Given the description of an element on the screen output the (x, y) to click on. 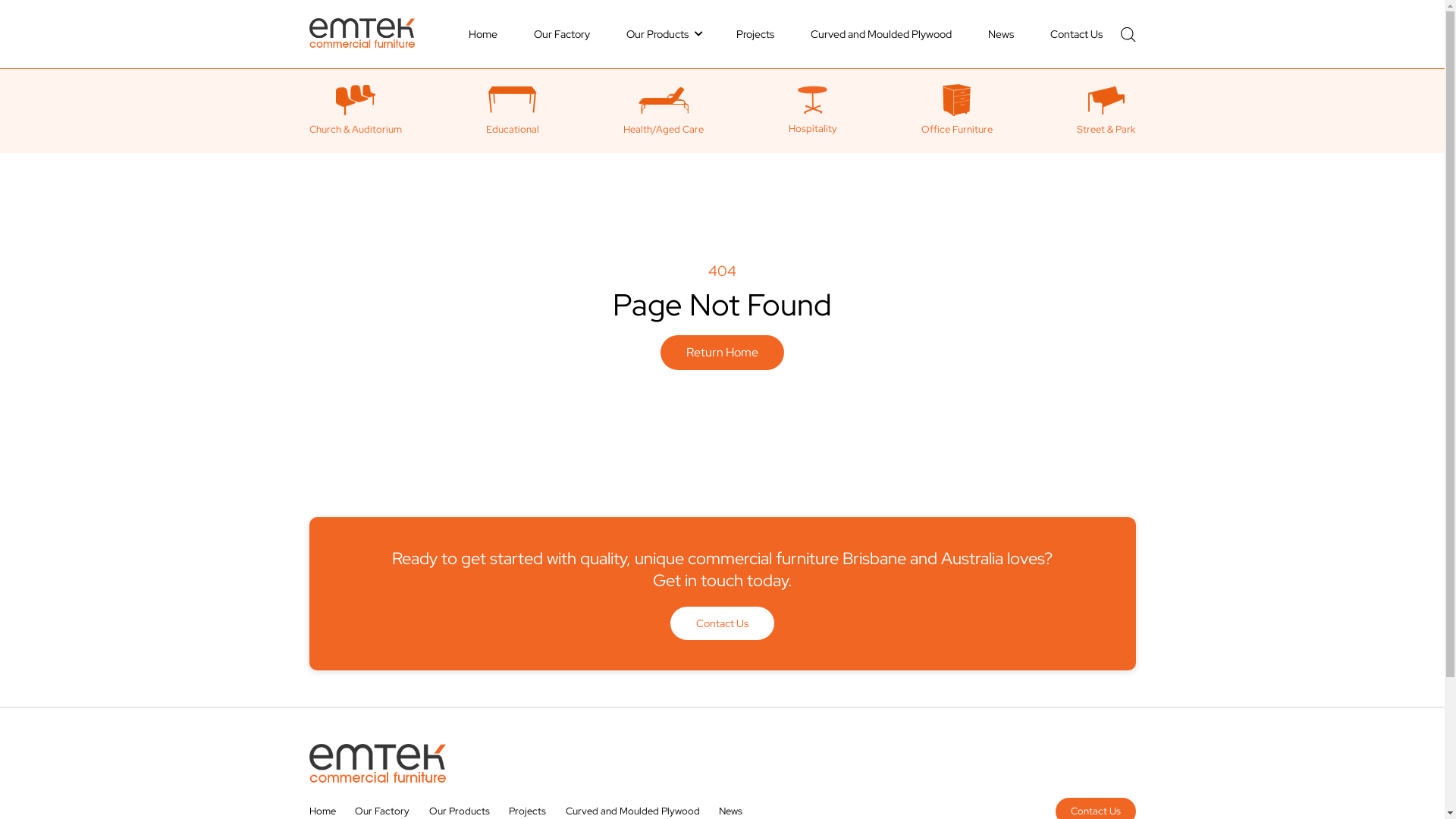
Church & Auditorium Element type: text (355, 110)
Our Products Element type: text (663, 33)
Office Furniture Element type: text (956, 110)
Hospitality Element type: text (812, 110)
Our Factory Element type: text (381, 811)
Curved and Moulded Plywood Element type: text (880, 33)
Curved and Moulded Plywood Element type: text (632, 811)
Street & Park Element type: text (1105, 110)
Health/Aged Care Element type: text (663, 110)
News Element type: text (730, 811)
Home Element type: text (482, 33)
Home Element type: text (322, 811)
Contact Us Element type: text (1095, 811)
Our Products Element type: text (459, 811)
Projects Element type: text (527, 811)
Educational Element type: text (512, 110)
Our Factory Element type: text (561, 33)
Projects Element type: text (754, 33)
Return Home Element type: text (722, 352)
Contact Us Element type: text (722, 623)
Contact Us Element type: text (1075, 33)
News Element type: text (1000, 33)
